Given the description of an element on the screen output the (x, y) to click on. 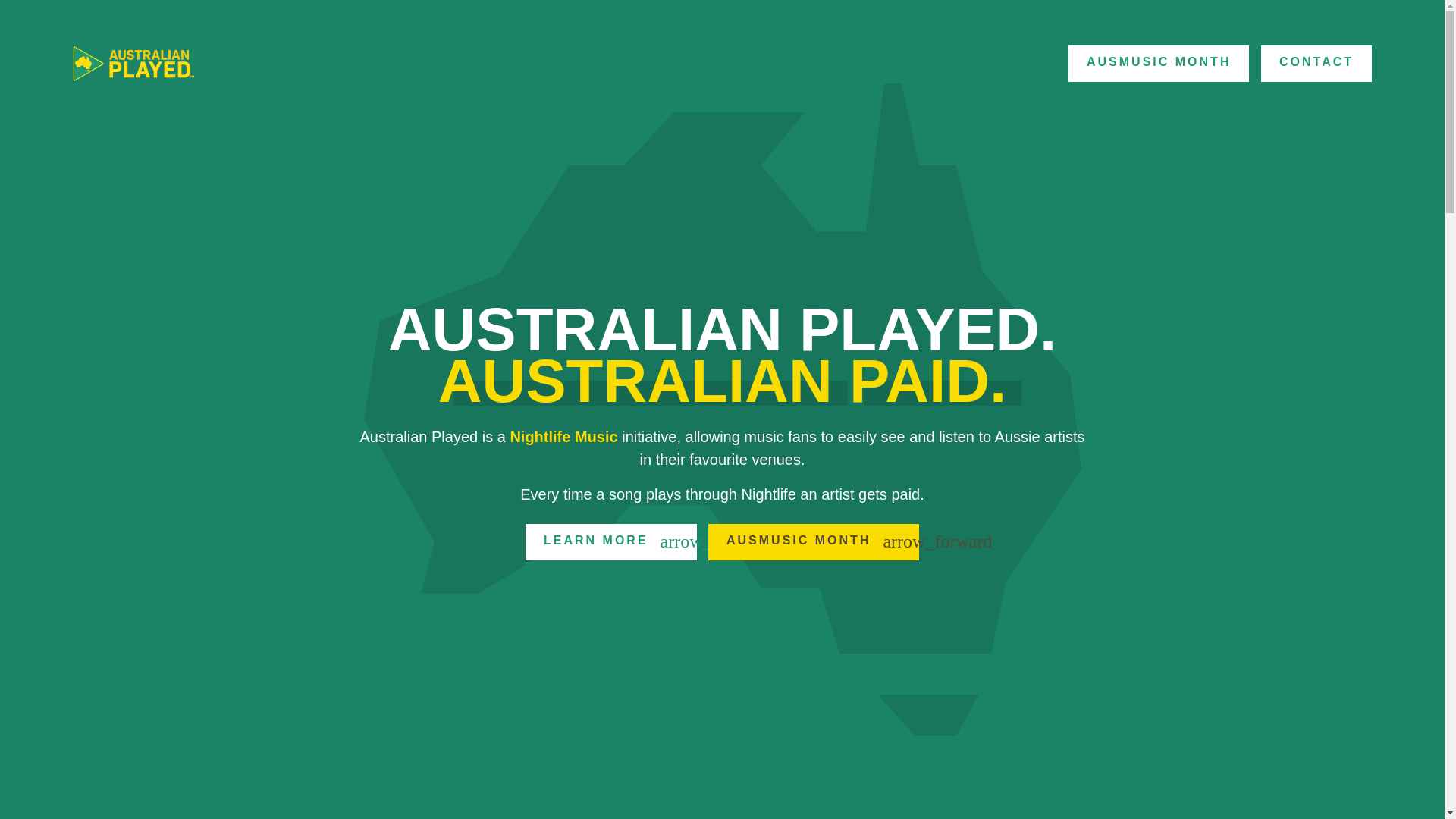
Nightlife Music (563, 436)
CONTACT (1315, 63)
AUSMUSIC MONTH (1158, 63)
